Given the description of an element on the screen output the (x, y) to click on. 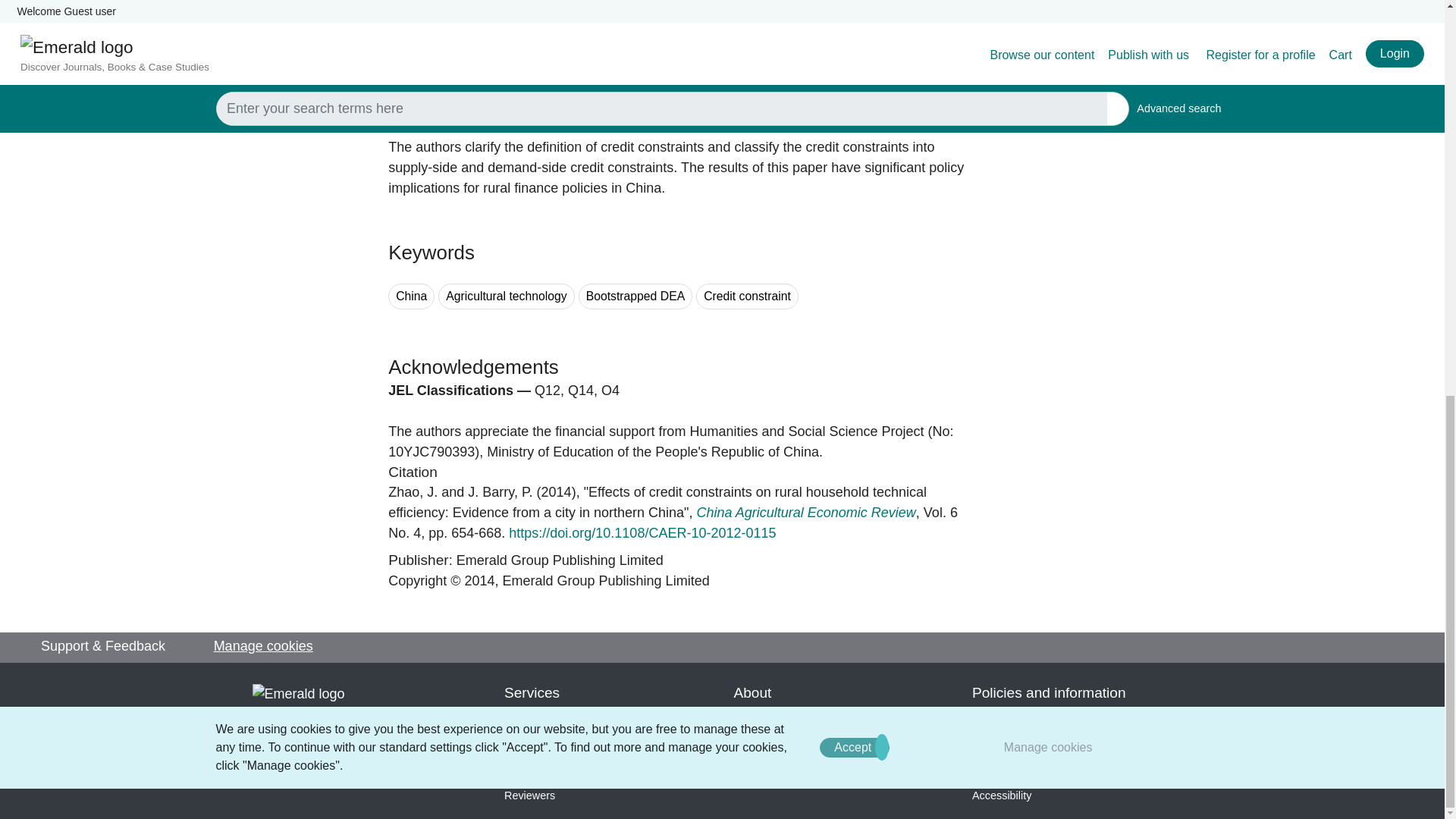
Search for keyword China (410, 296)
Search for keyword Bootstrapped DEA (635, 296)
Peter J. Barry (499, 491)
Jianmei Zhao (413, 491)
Search for keyword Agricultural technology (505, 296)
Search for keyword Credit constraint (746, 296)
